Given the description of an element on the screen output the (x, y) to click on. 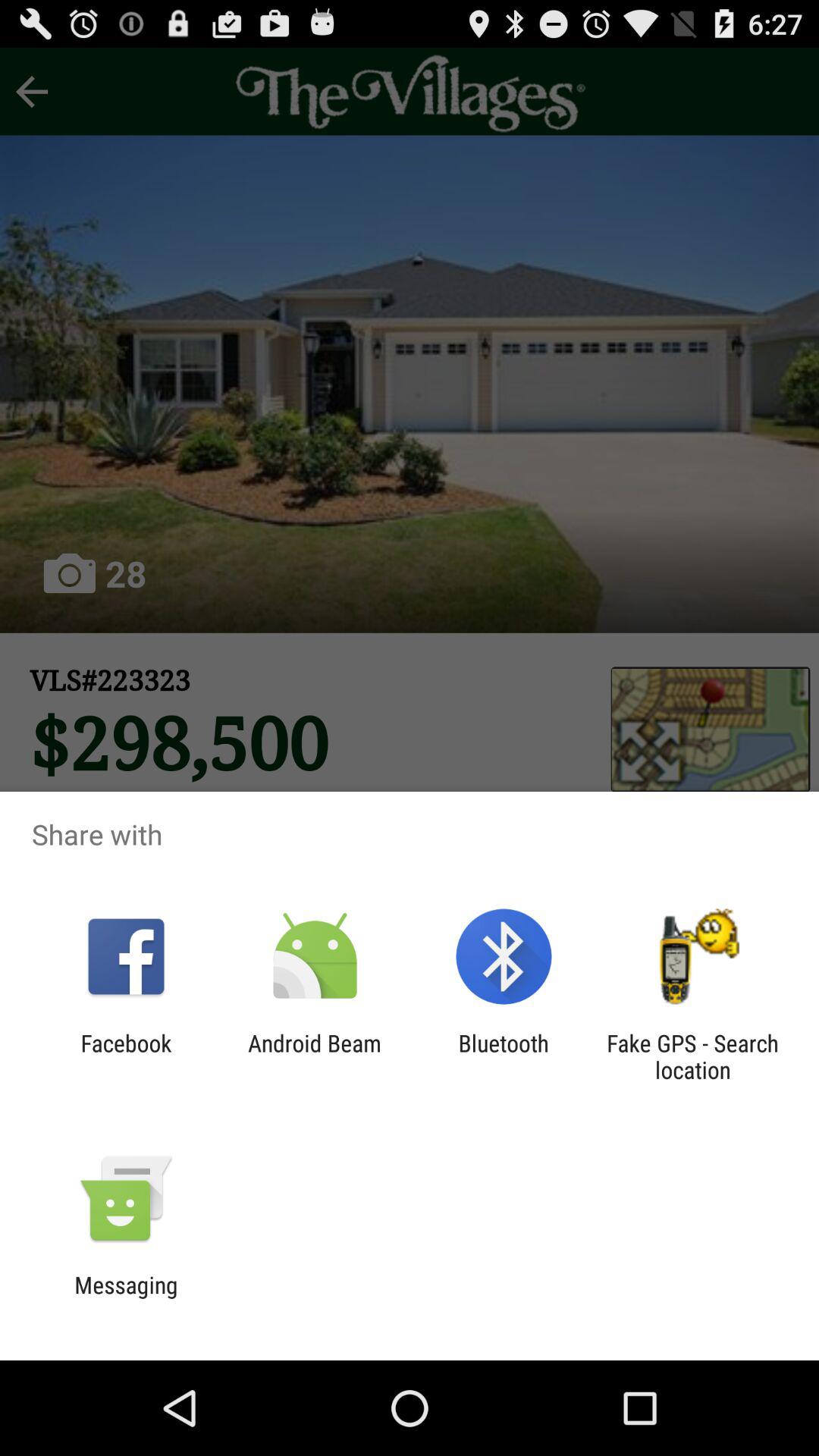
turn off the icon to the left of bluetooth item (314, 1056)
